Given the description of an element on the screen output the (x, y) to click on. 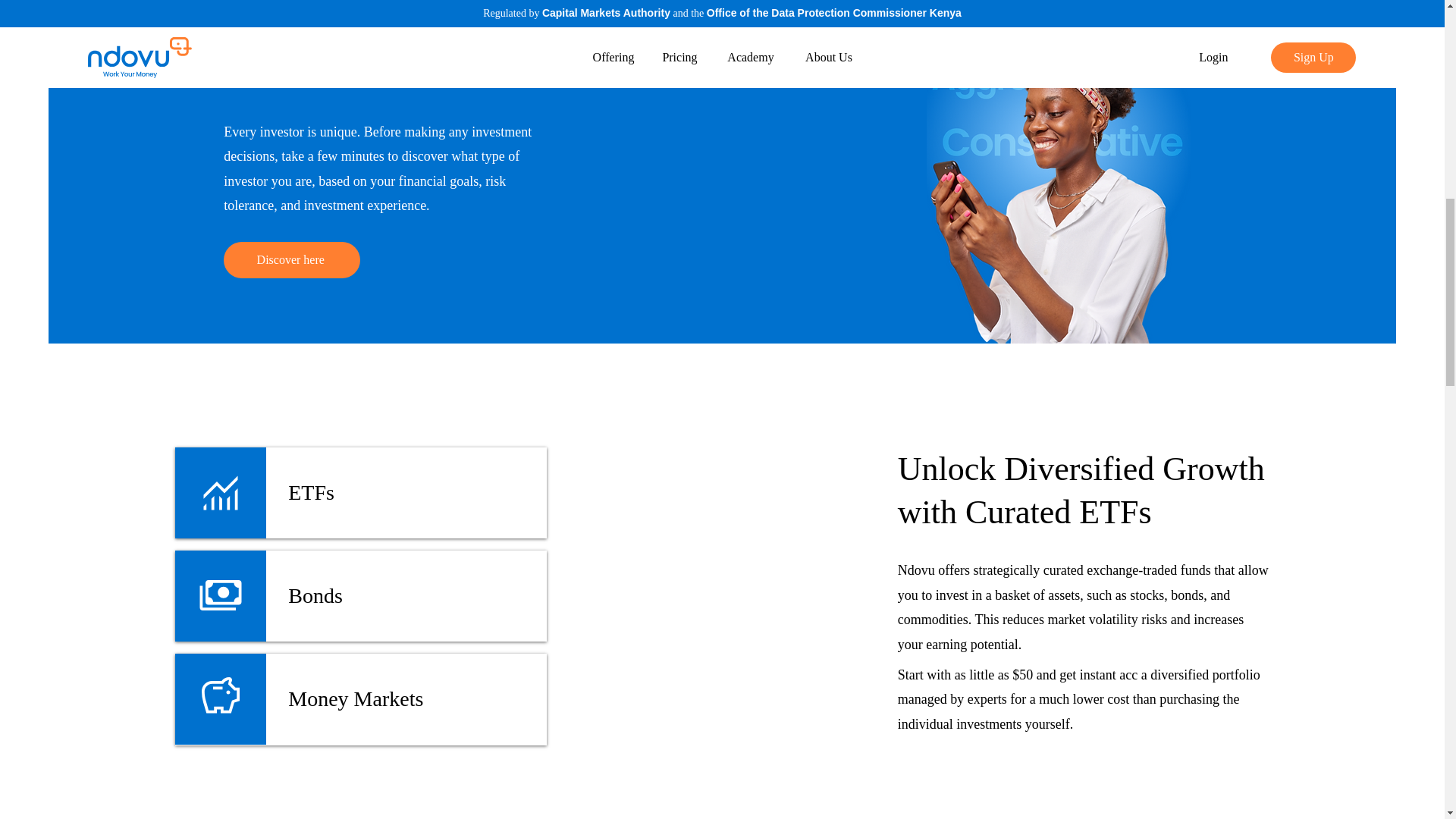
Discover here (291, 259)
